Given the description of an element on the screen output the (x, y) to click on. 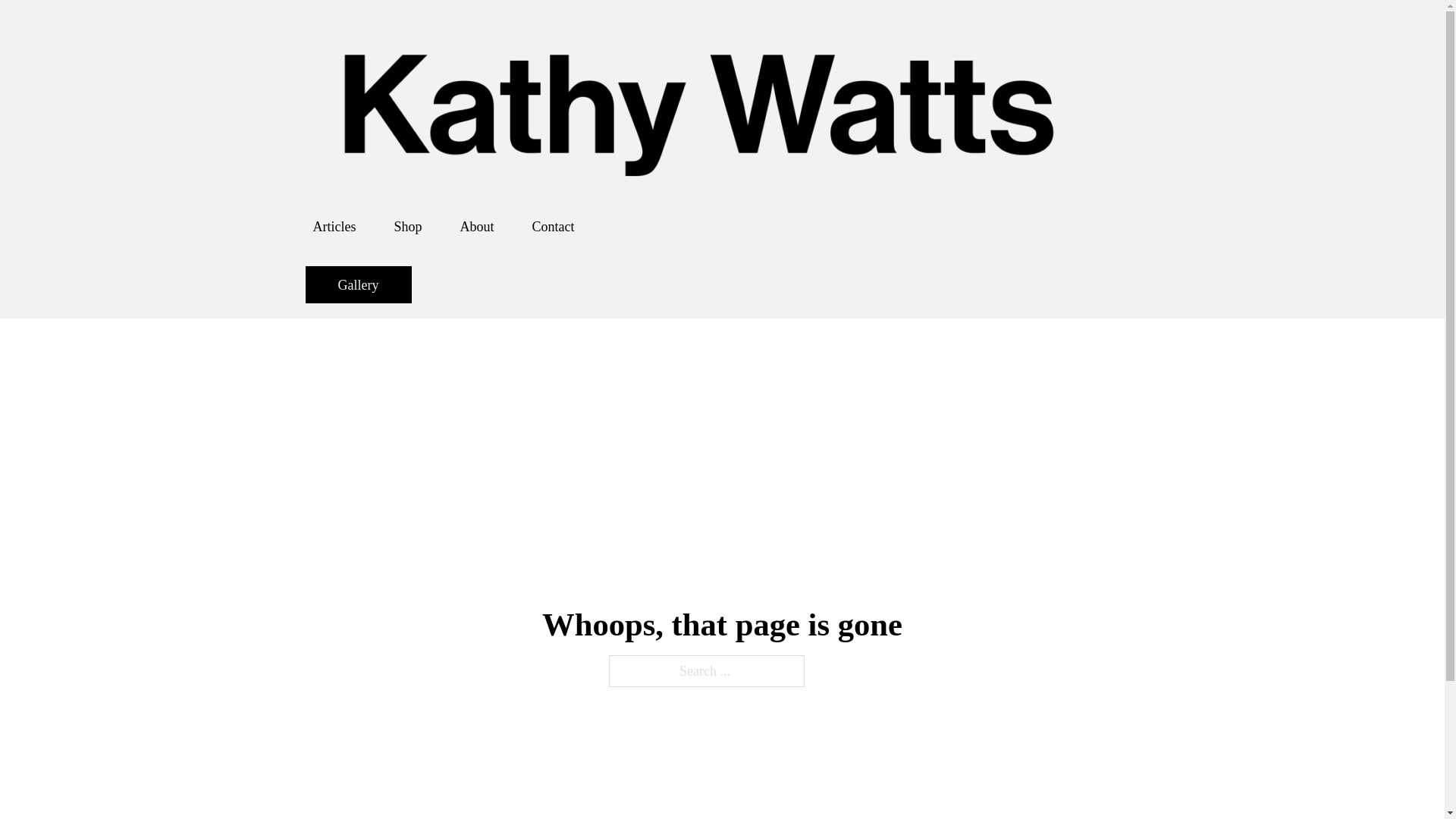
Articles (333, 226)
Shop (407, 226)
Contact (553, 226)
About (475, 226)
Gallery (357, 284)
